Given the description of an element on the screen output the (x, y) to click on. 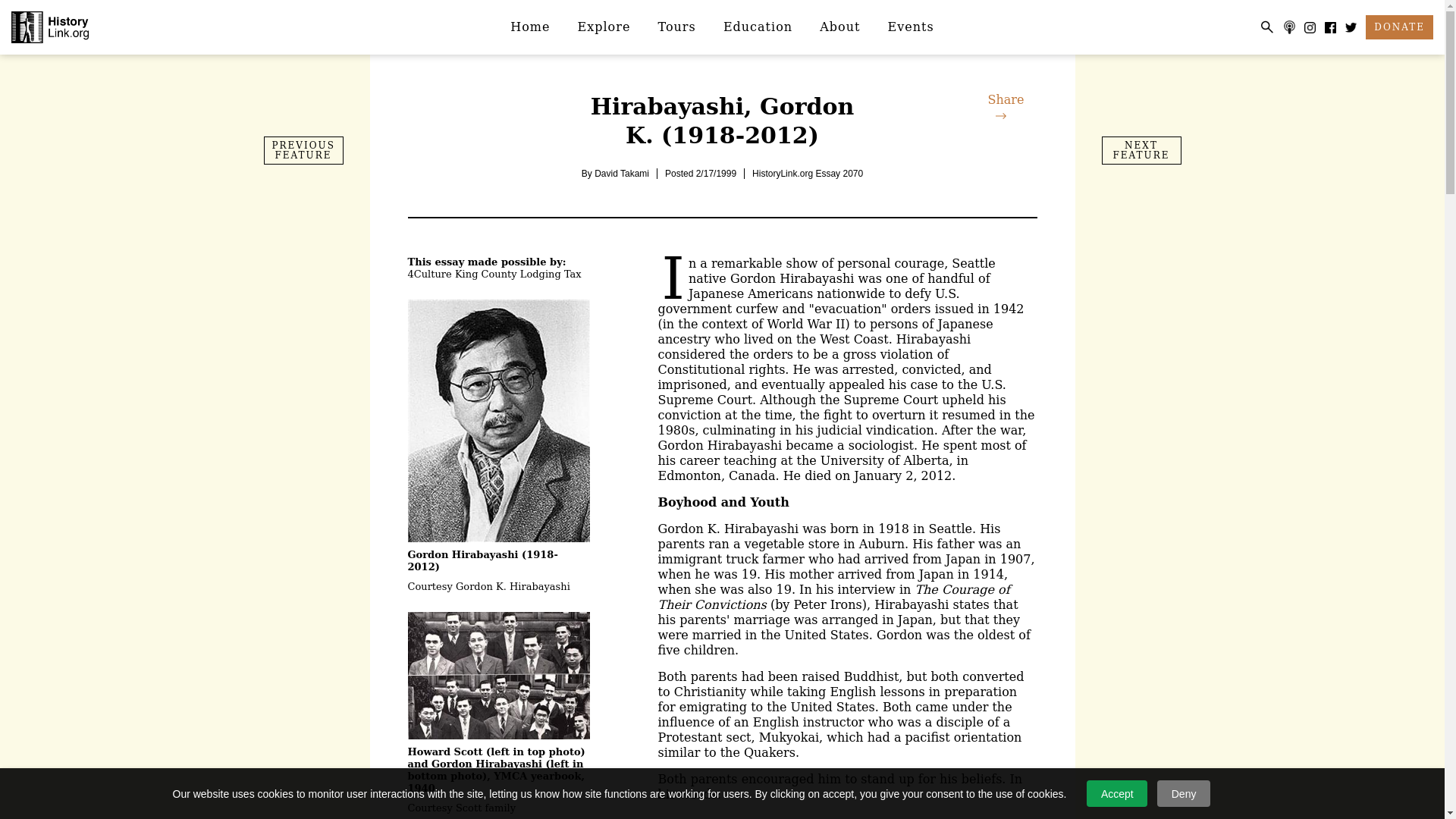
PREVIOUS FEATURE (303, 150)
Instagram (1310, 26)
Deny (1183, 793)
Home (529, 26)
DONATE (1398, 27)
Previous File (303, 150)
Facebook (1330, 26)
Explore (604, 26)
Accept (1116, 793)
Search (1267, 26)
Podcast (1289, 26)
Twitter (1350, 26)
Education (758, 26)
Next File (1140, 150)
About (839, 26)
